Given the description of an element on the screen output the (x, y) to click on. 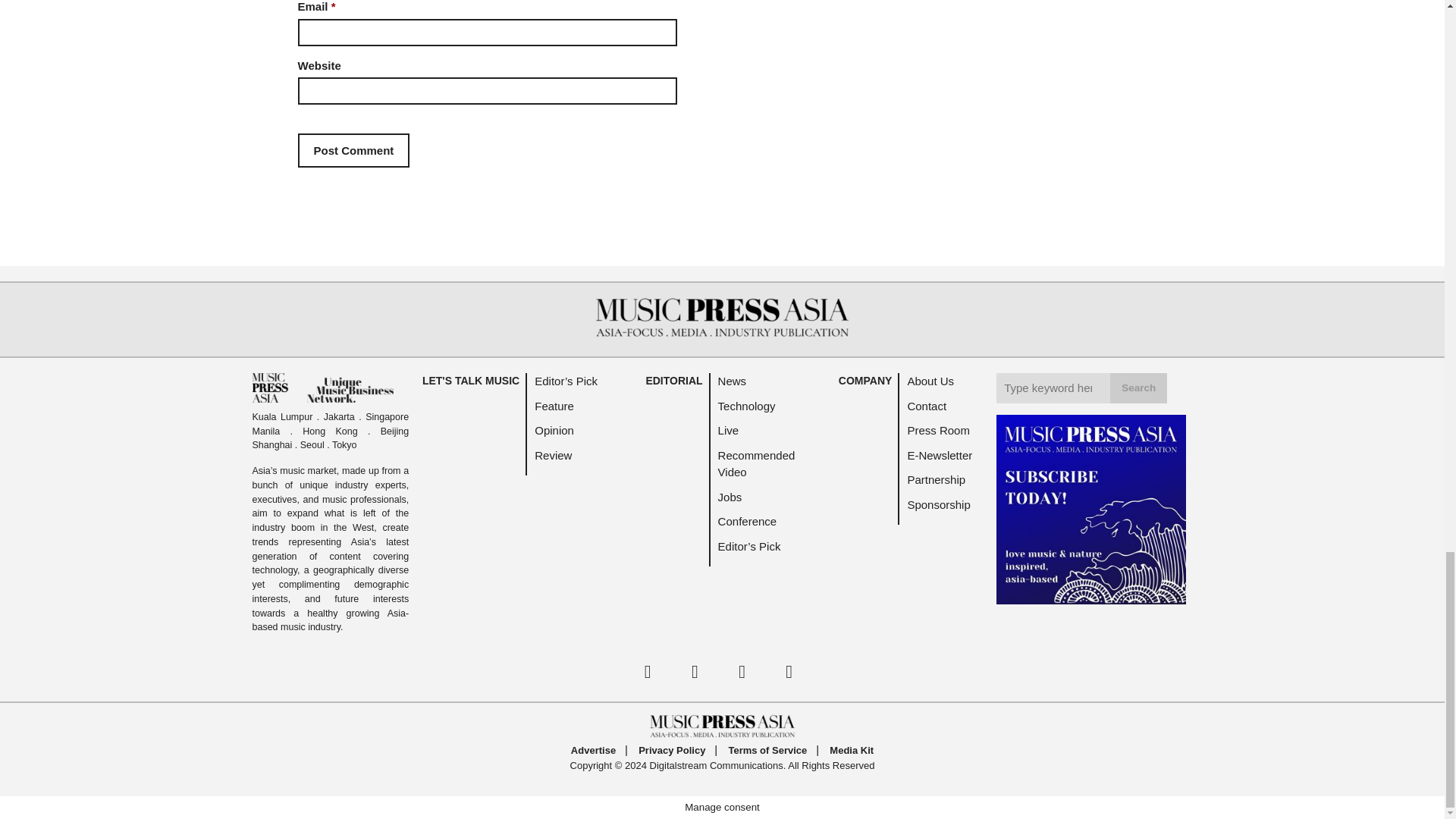
Post Comment (353, 150)
Search (1138, 388)
Search (1138, 388)
